Given the description of an element on the screen output the (x, y) to click on. 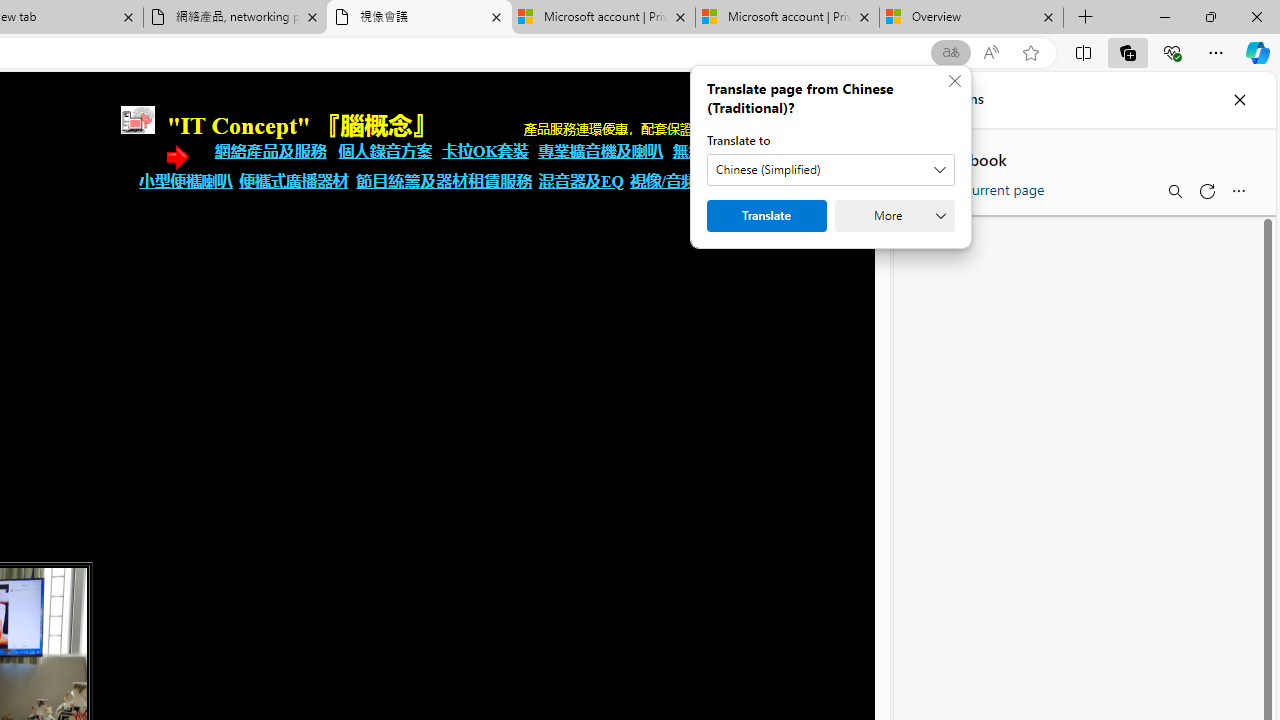
Translate to (830, 169)
Add current page (982, 186)
More (894, 215)
